Given the description of an element on the screen output the (x, y) to click on. 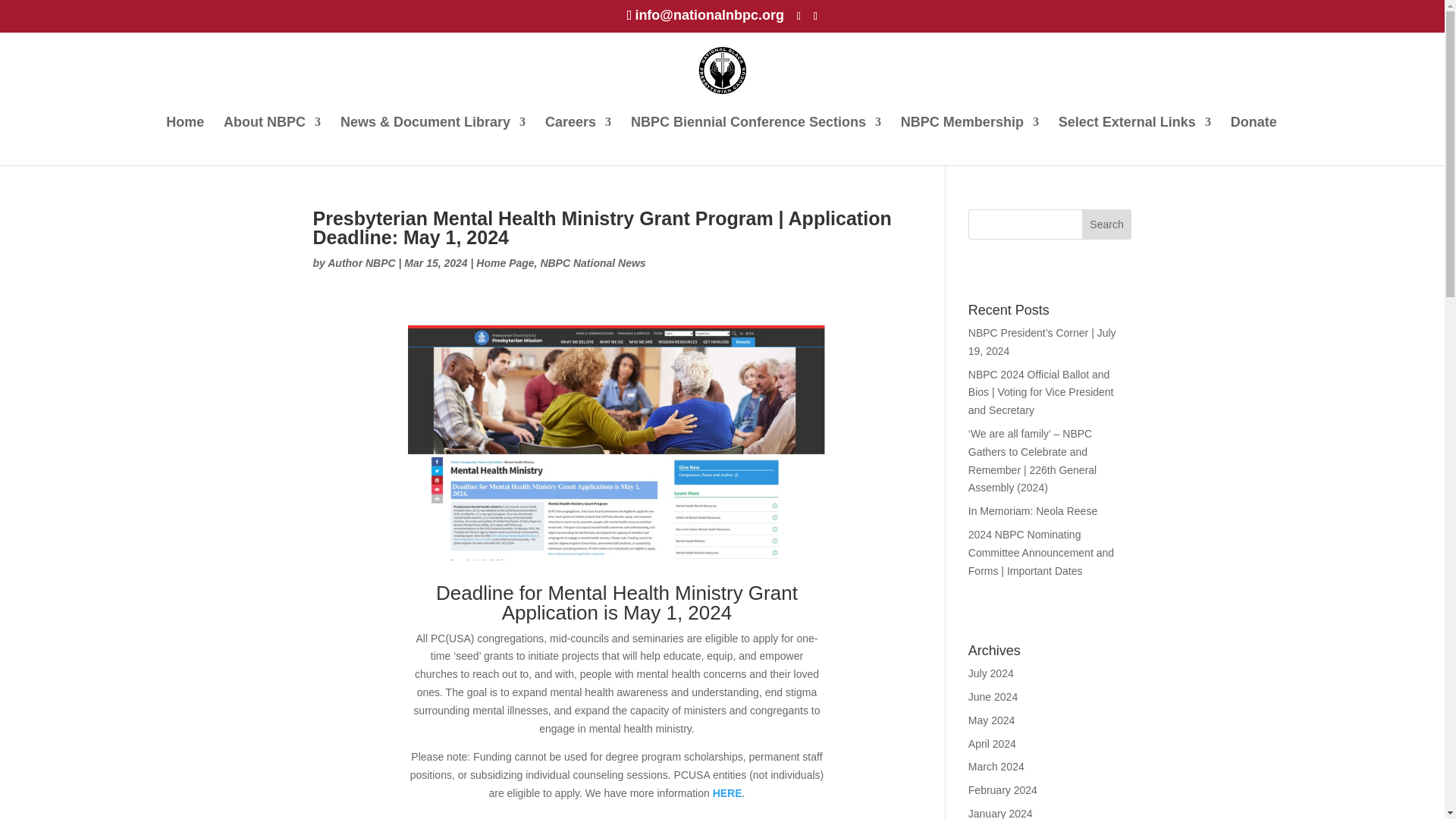
Posts by Author NBPC (360, 263)
Careers (577, 135)
About NBPC (272, 135)
NBPC Biennial Conference Sections (755, 135)
Home (184, 135)
Search (1106, 224)
